Given the description of an element on the screen output the (x, y) to click on. 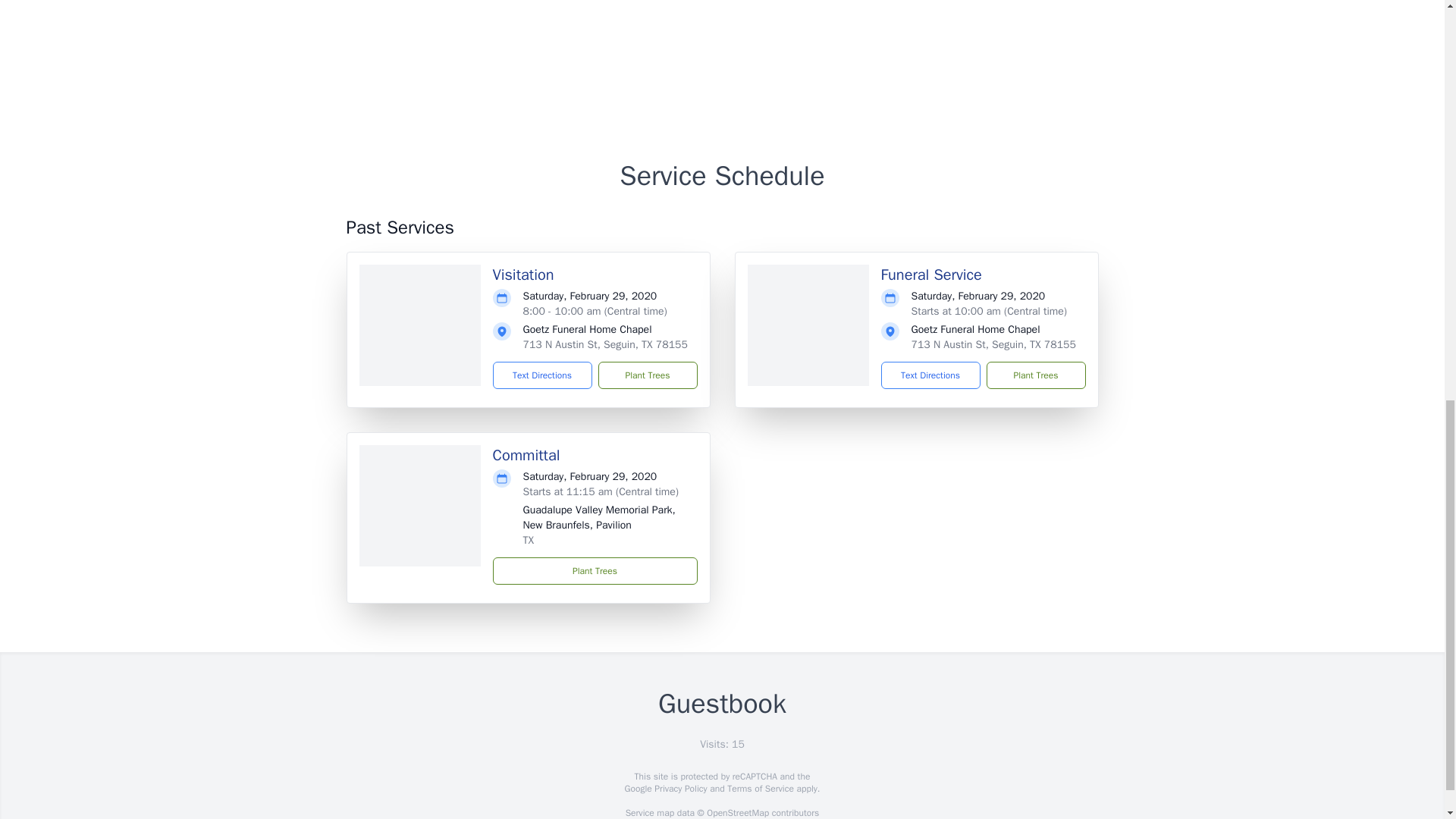
Terms of Service (759, 788)
Text Directions (542, 375)
Plant Trees (595, 570)
Privacy Policy (679, 788)
Text Directions (929, 375)
Plant Trees (646, 375)
713 N Austin St, Seguin, TX 78155 (604, 344)
713 N Austin St, Seguin, TX 78155 (993, 344)
Plant Trees (1034, 375)
OpenStreetMap (737, 812)
